Given the description of an element on the screen output the (x, y) to click on. 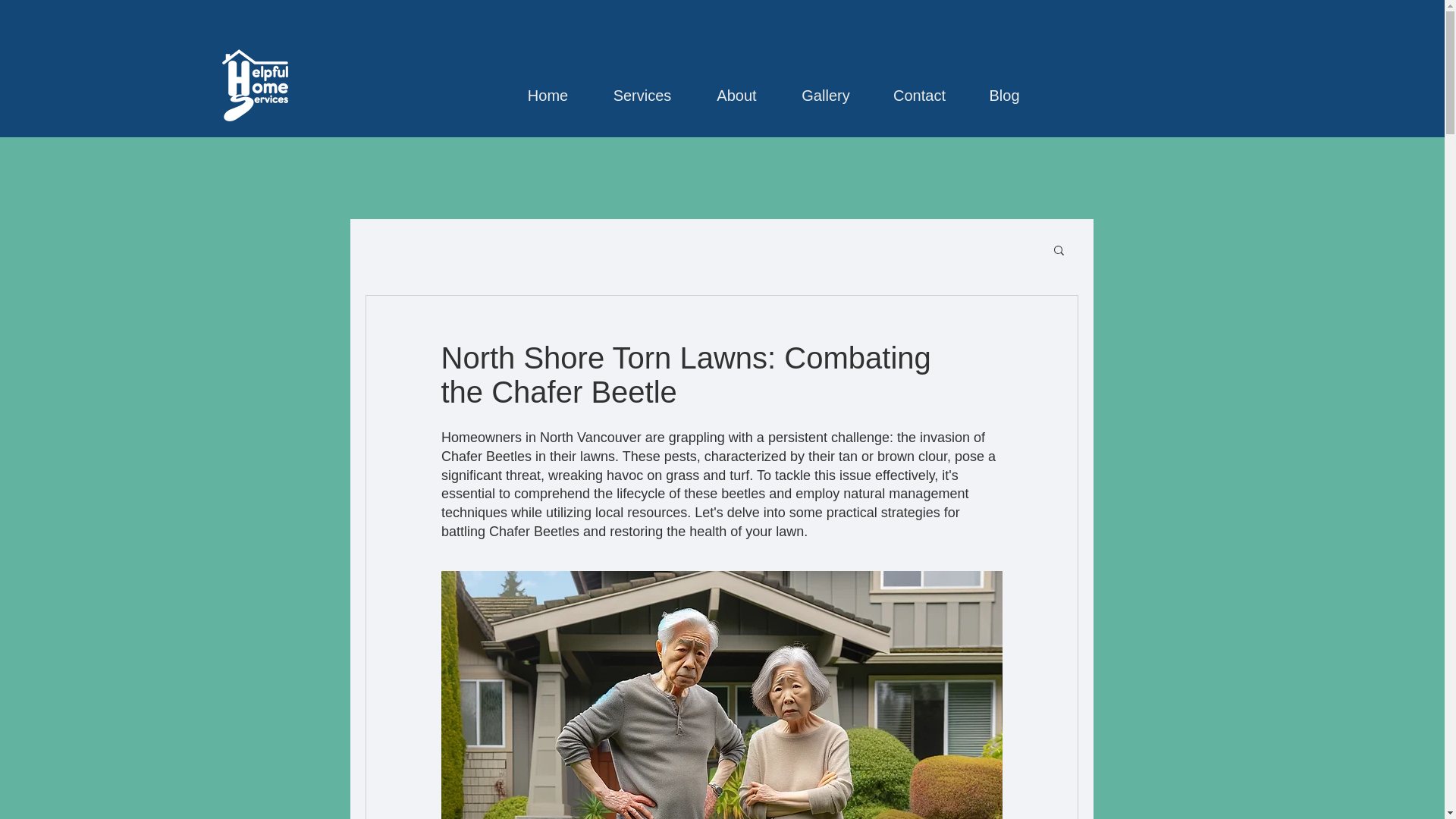
Home (548, 88)
Services (642, 88)
Gallery (825, 88)
Blog (1004, 88)
About (736, 88)
Contact (919, 88)
